Given the description of an element on the screen output the (x, y) to click on. 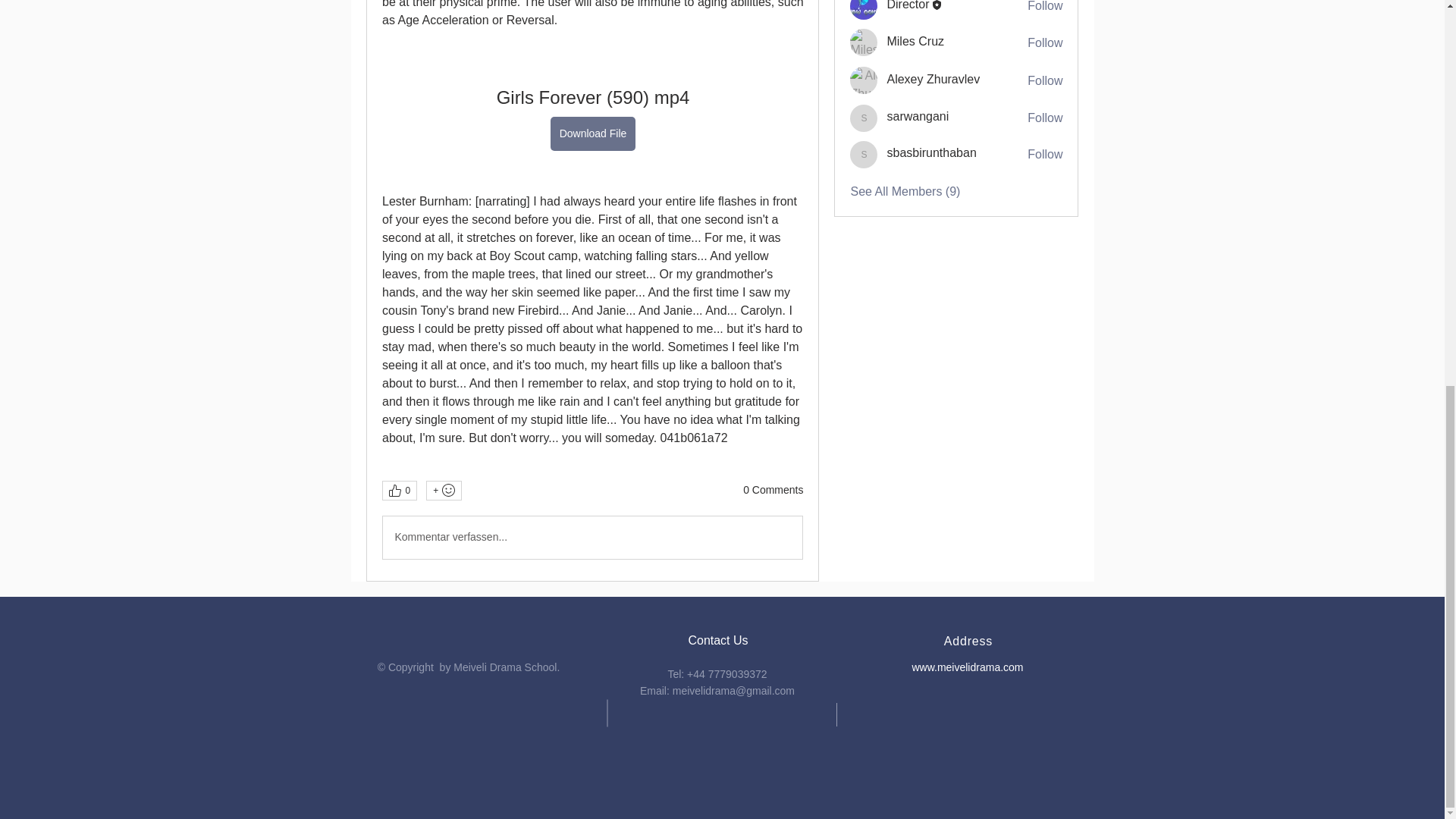
Miles Cruz (863, 42)
Kommentar verfassen... (591, 537)
Director (907, 5)
www.meivelidrama.com (967, 666)
sarwangani (917, 115)
Follow (1044, 80)
sbasbirunthaban (863, 154)
Follow (1044, 7)
Follow (1044, 117)
0 Comments (772, 490)
Follow (1044, 43)
Follow (1044, 154)
sbasbirunthaban (930, 152)
Director (863, 9)
